Given the description of an element on the screen output the (x, y) to click on. 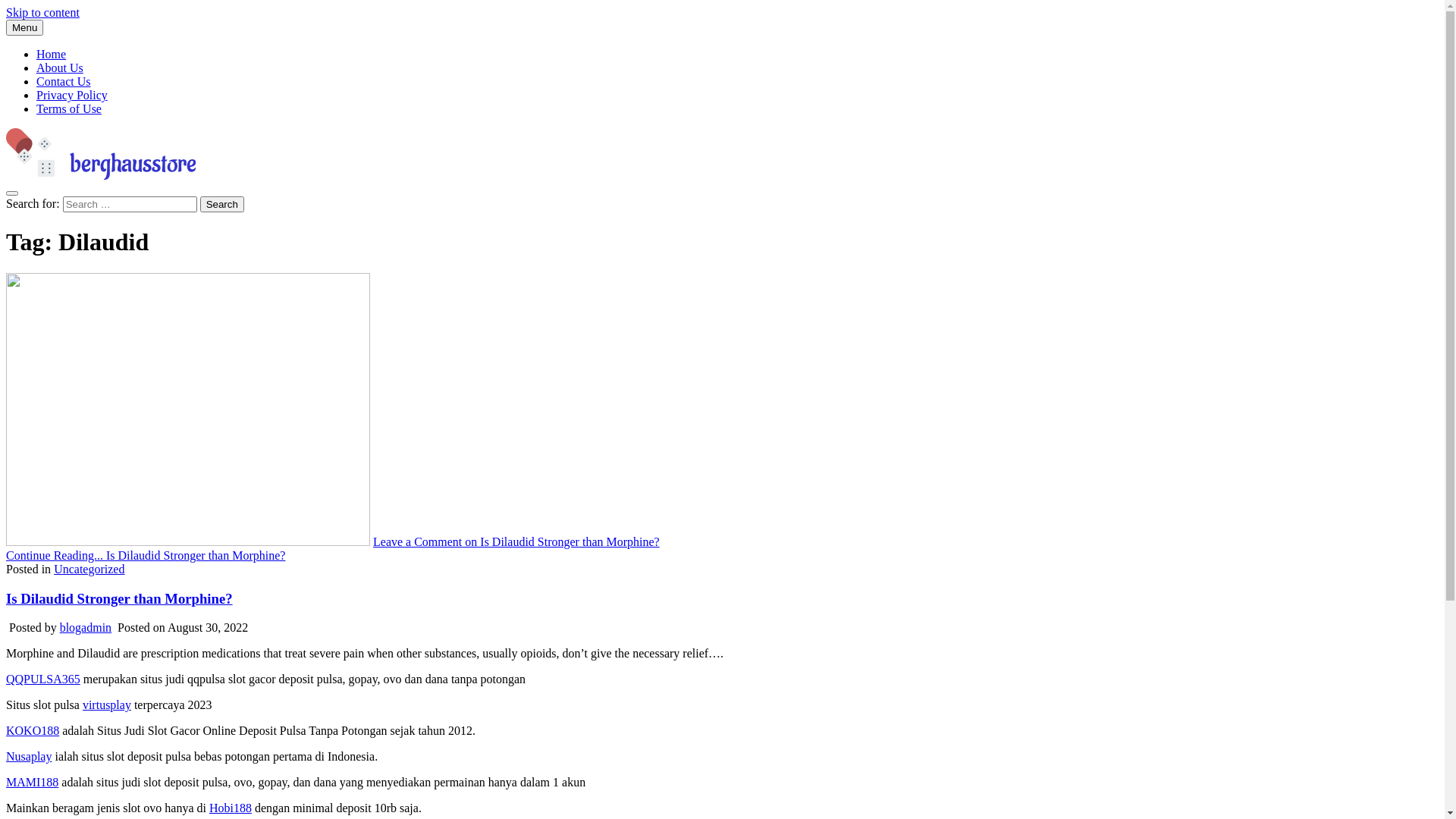
Nusaplay Element type: text (28, 755)
Contact Us Element type: text (63, 81)
Is Dilaudid Stronger than Morphine? Element type: text (119, 598)
blogadmin Element type: text (85, 627)
Terms of Use Element type: text (68, 108)
Skip to content Element type: text (42, 12)
Search Element type: text (222, 204)
Uncategorized Element type: text (88, 568)
Continue Reading... Is Dilaudid Stronger than Morphine? Element type: text (145, 555)
Home Element type: text (50, 53)
Privacy Policy Element type: text (71, 94)
Menu Element type: text (24, 27)
KOKO188 Element type: text (32, 730)
virtusplay Element type: text (106, 704)
QQPULSA365 Element type: text (43, 678)
About Us Element type: text (59, 67)
MAMI188 Element type: text (32, 781)
Leave a Comment on Is Dilaudid Stronger than Morphine? Element type: text (516, 541)
Permanent Link to Is Dilaudid Stronger than Morphine? Element type: hover (188, 541)
Hobi188 Element type: text (230, 807)
